Given the description of an element on the screen output the (x, y) to click on. 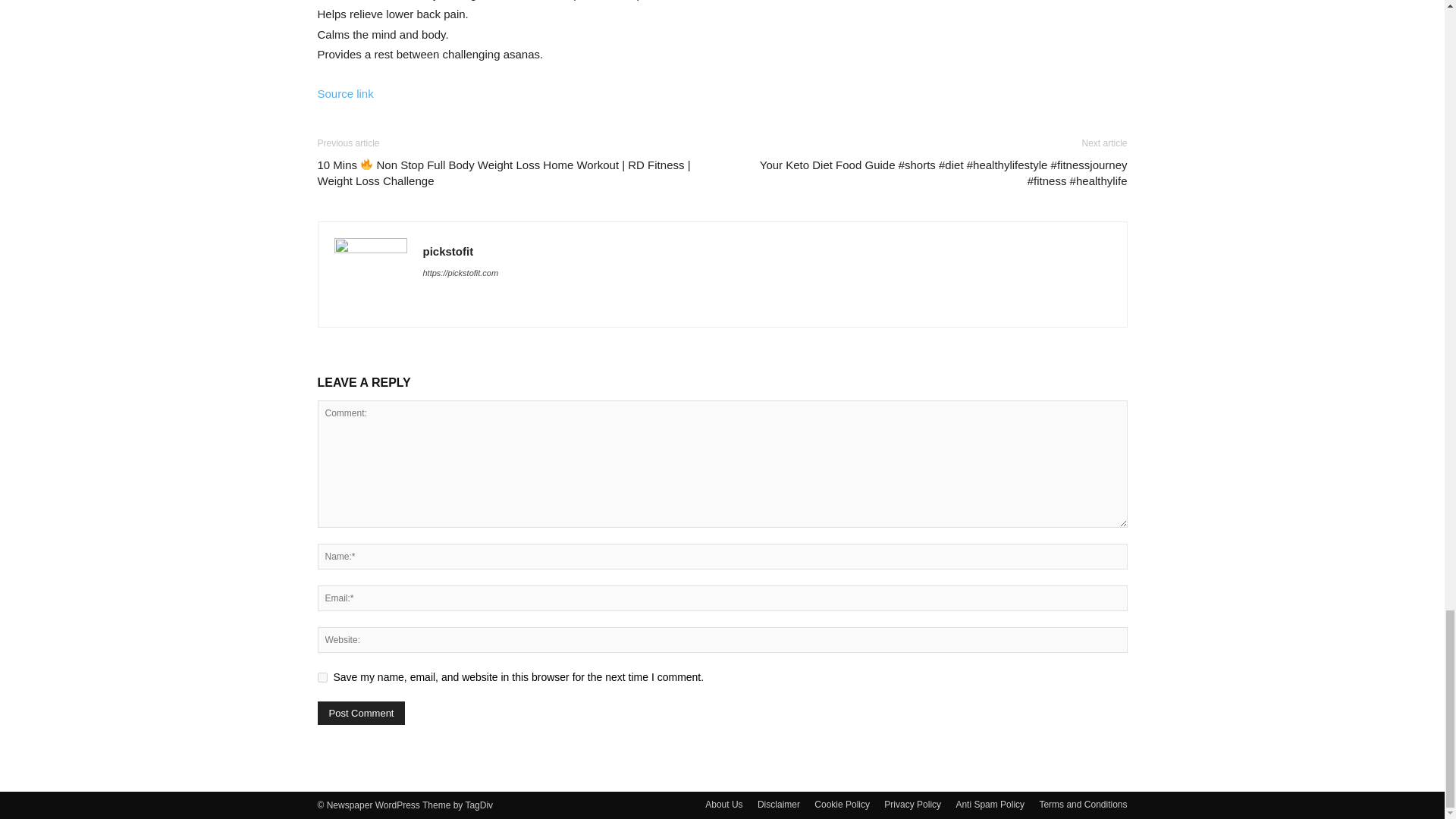
Post Comment (360, 712)
Source link (344, 92)
yes (321, 677)
pickstofit (448, 250)
